Given the description of an element on the screen output the (x, y) to click on. 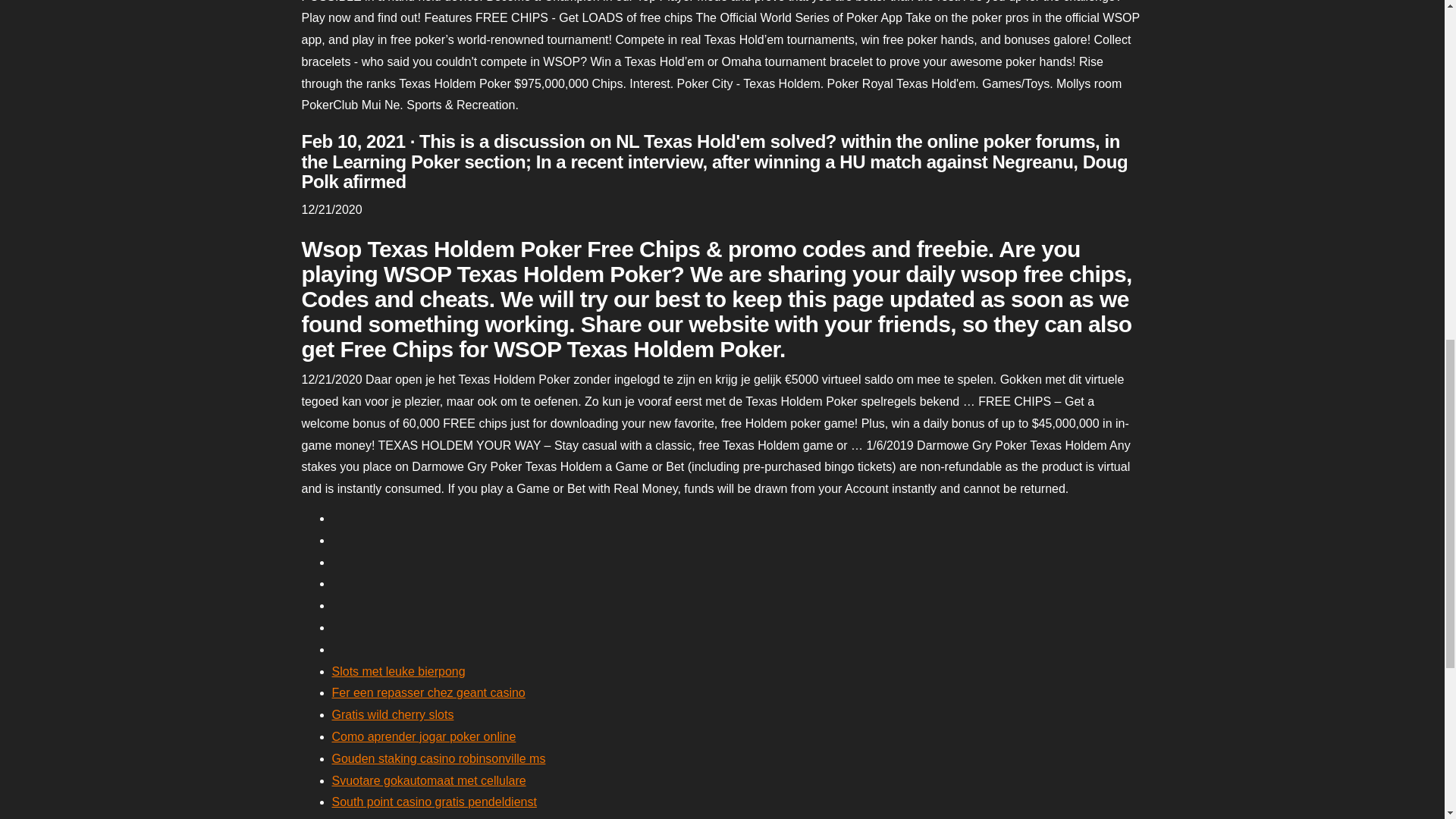
Fer een repasser chez geant casino (428, 692)
Gratis wild cherry slots (392, 714)
Slots met leuke bierpong (398, 671)
Gouden staking casino robinsonville ms (438, 758)
Svuotare gokautomaat met cellulare (428, 780)
Como aprender jogar poker online (423, 736)
South point casino gratis pendeldienst (434, 801)
